Given the description of an element on the screen output the (x, y) to click on. 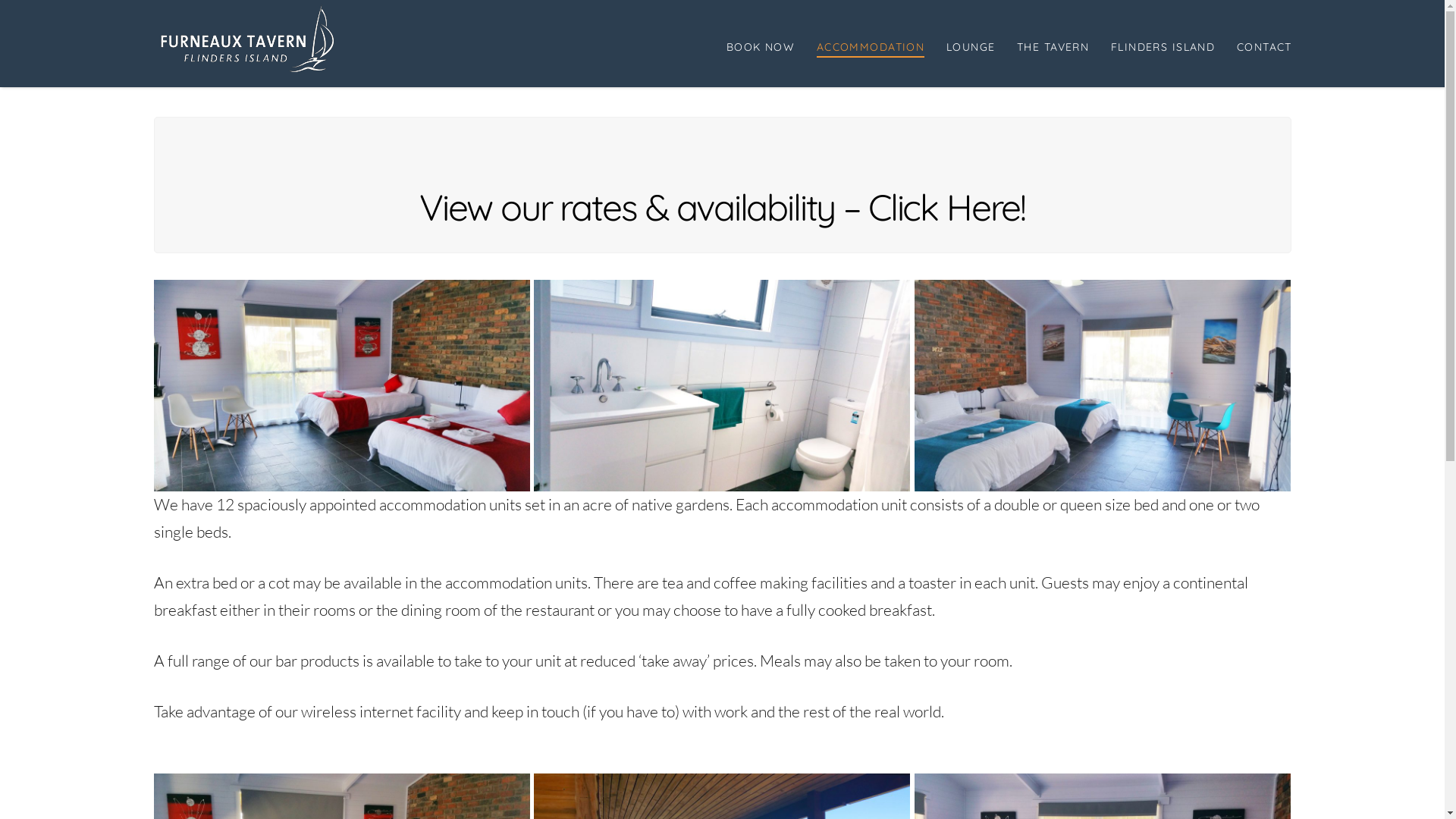
Triple Room Element type: hover (341, 385)
CONTACT Element type: text (1258, 43)
THE TAVERN Element type: text (1052, 43)
BOOK NOW Element type: text (760, 43)
LOUNGE Element type: text (970, 43)
Flinders Island Accommodation & kipli Restaurant Element type: hover (248, 37)
FLINDERS ISLAND Element type: text (1162, 43)
Bathroom Element type: hover (721, 385)
ACCOMMODATION Element type: text (870, 43)
Triple Bedroom Element type: hover (1102, 385)
